Given the description of an element on the screen output the (x, y) to click on. 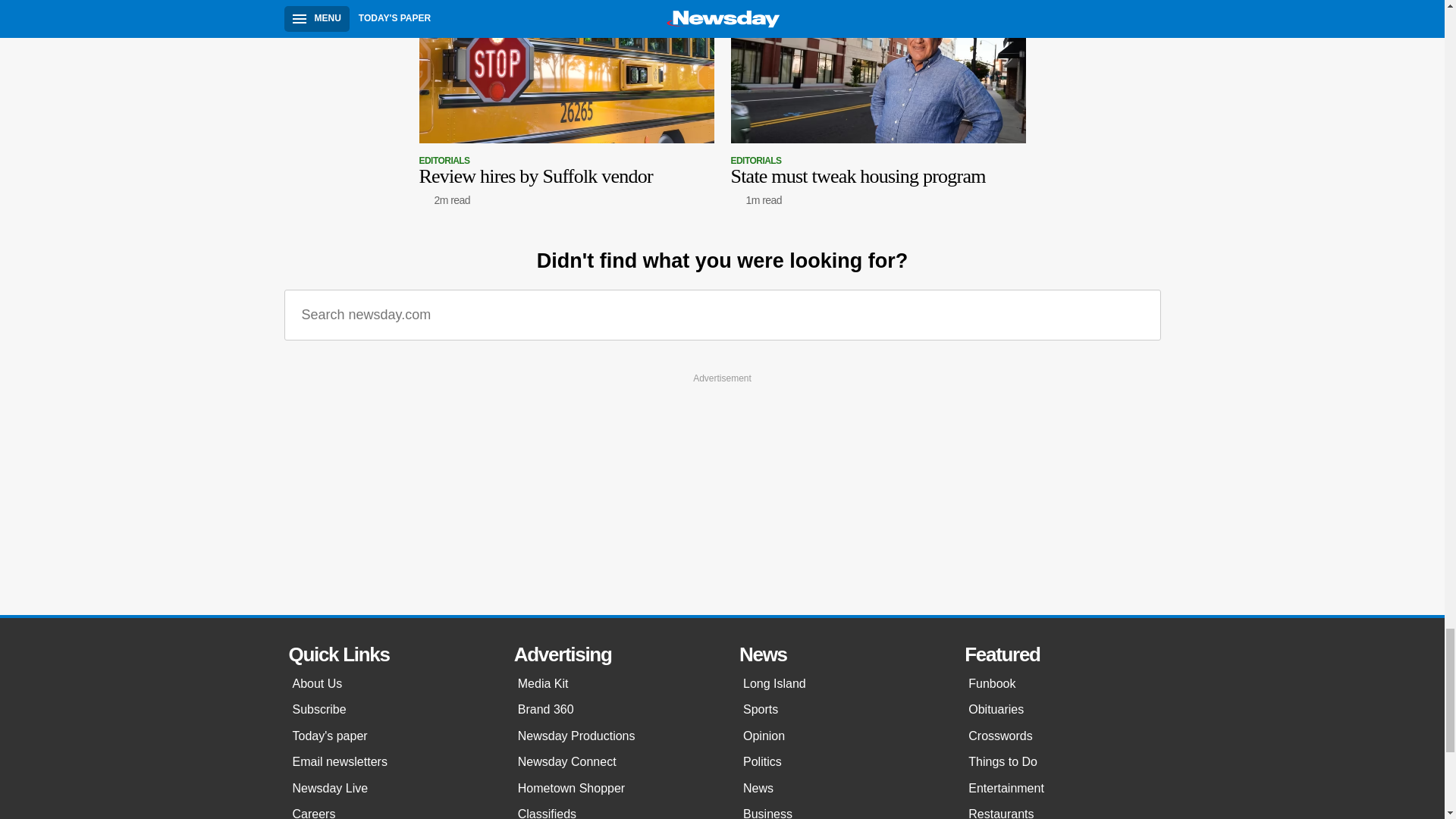
Today's paper (387, 736)
Search (878, 103)
Email newsletters (1137, 314)
About Us (387, 761)
Subscribe (387, 683)
